Given the description of an element on the screen output the (x, y) to click on. 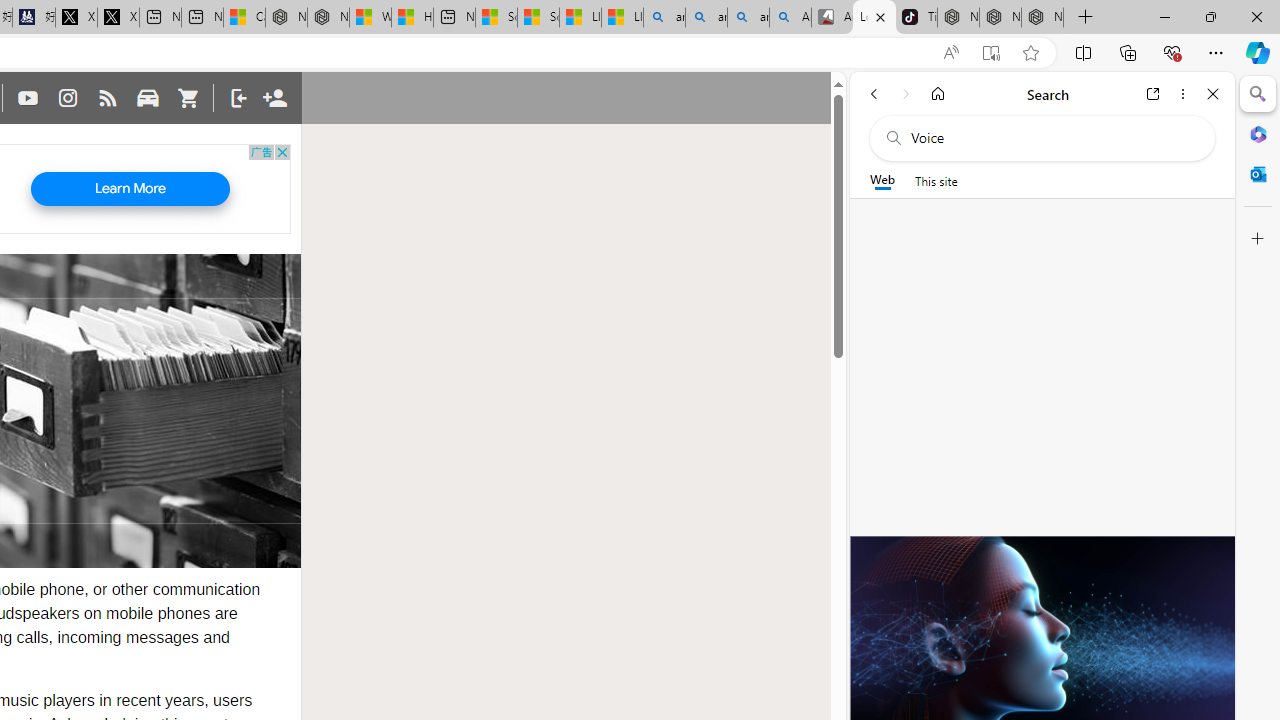
Huge shark washes ashore at New York City beach | Watch (411, 17)
amazon - Search (706, 17)
Open link in new tab (1153, 93)
Nordace - Best Sellers (958, 17)
